Given the description of an element on the screen output the (x, y) to click on. 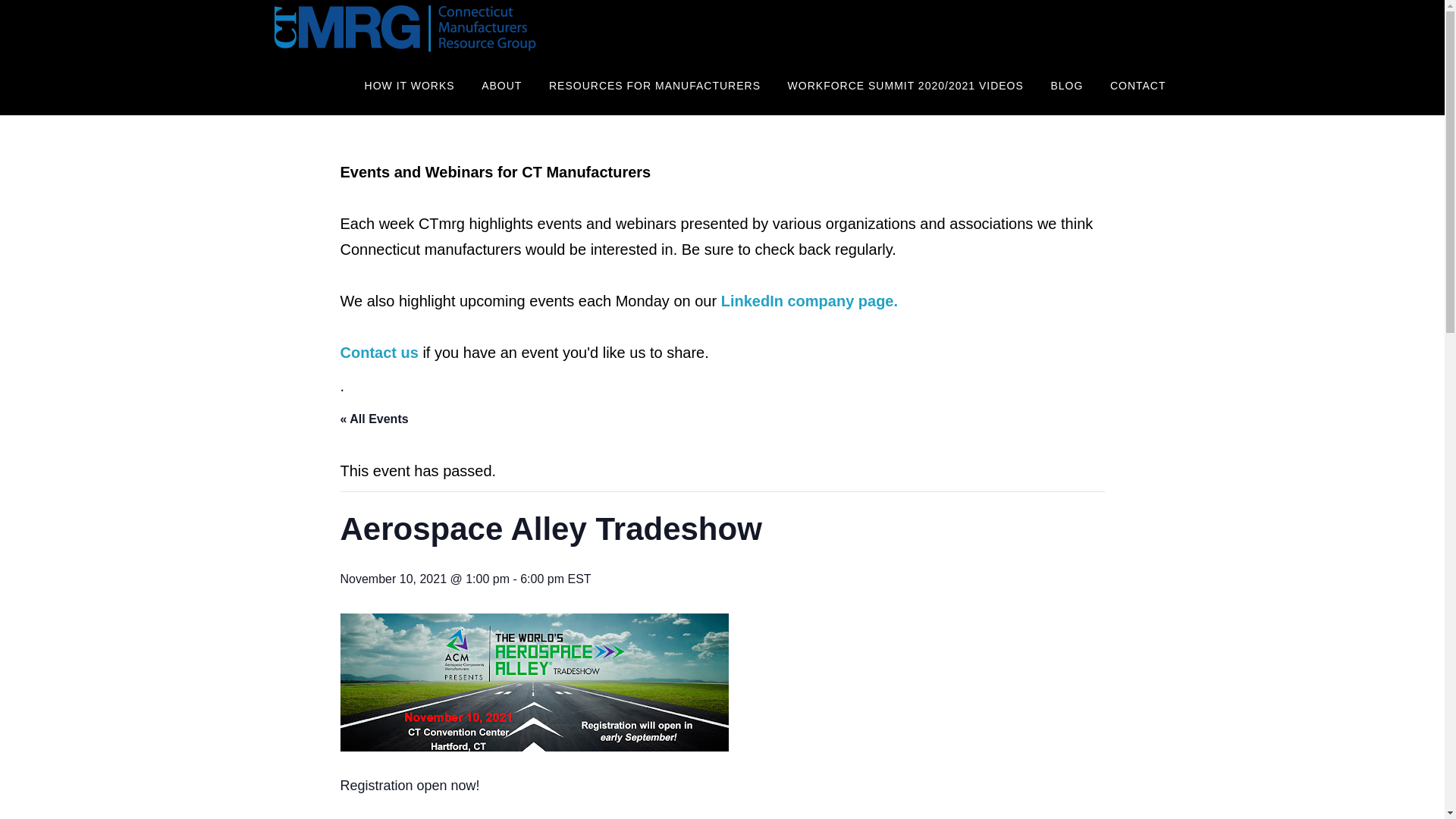
RESOURCES FOR MANUFACTURERS (654, 86)
HOW IT WORKS (409, 86)
CONTACT (1138, 86)
CT MANUFACTURERS RESOURCE GROUP (403, 28)
BLOG (1066, 86)
Contact us (378, 352)
ABOUT (501, 86)
LinkedIn company page.  (811, 300)
